Given the description of an element on the screen output the (x, y) to click on. 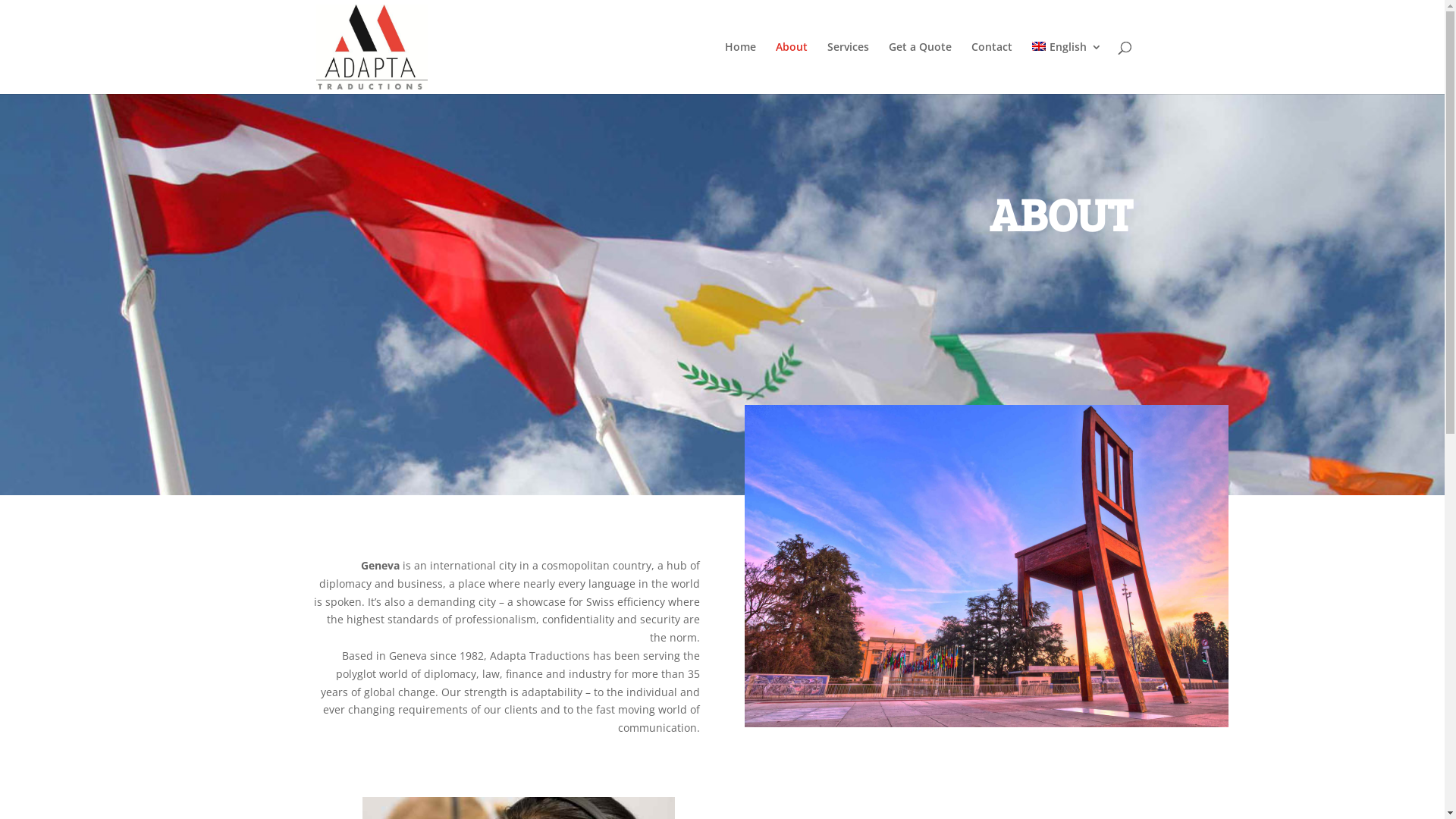
Services Element type: text (848, 67)
Home Element type: text (740, 67)
Contact Element type: text (991, 67)
Get a Quote Element type: text (919, 67)
English Element type: text (1066, 67)
About Element type: text (791, 67)
